Given the description of an element on the screen output the (x, y) to click on. 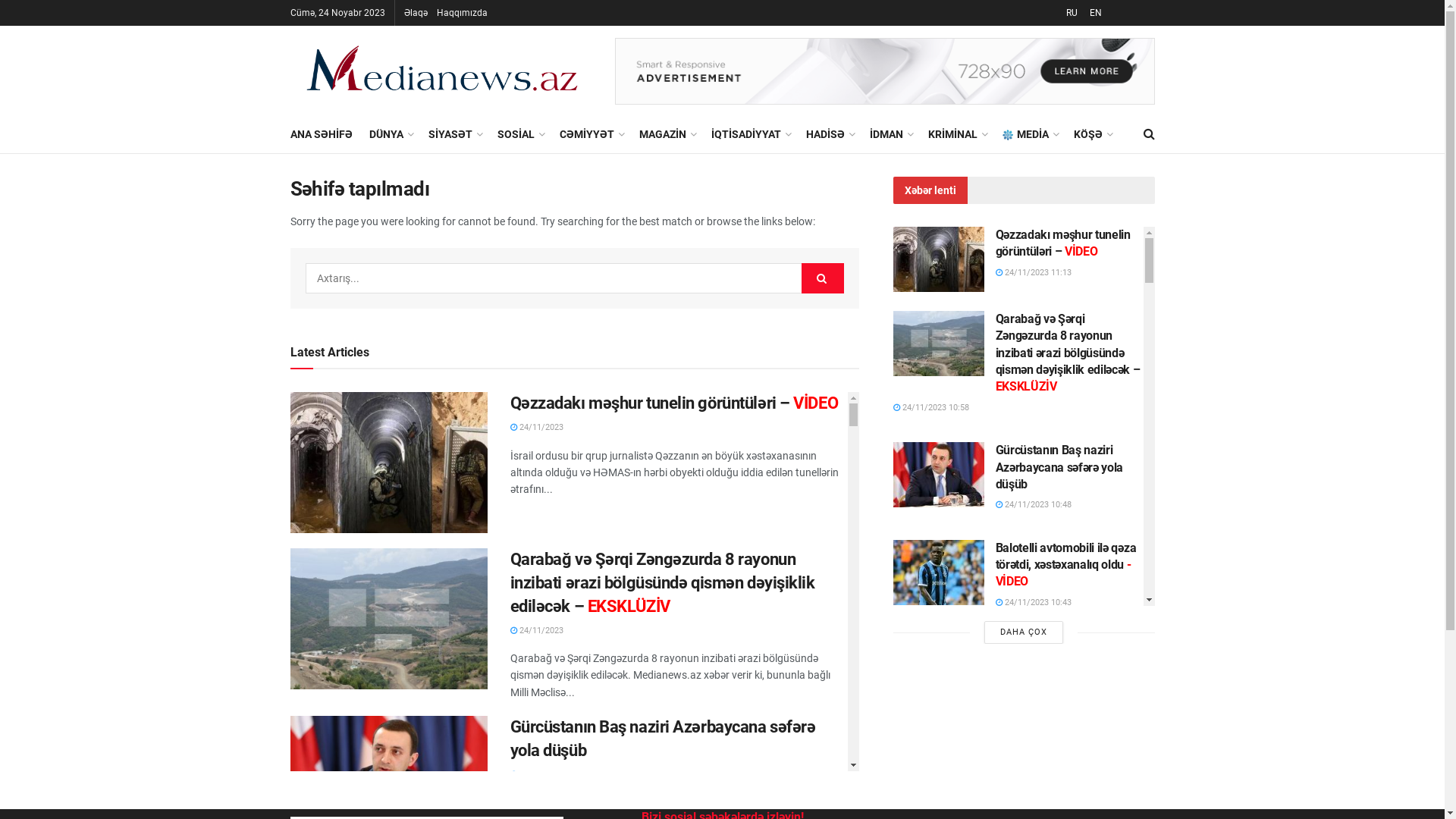
24/11/2023 10:43 Element type: text (1032, 602)
24/11/2023 Element type: text (535, 630)
MAGAZIN Element type: text (665, 133)
RU Element type: text (1070, 12)
24/11/2023 Element type: text (535, 774)
24/11/2023 Element type: text (535, 427)
KRIMINAL Element type: text (956, 133)
24/11/2023 10:48 Element type: text (1032, 504)
SOSIAL Element type: text (519, 133)
24/11/2023 10:58 Element type: text (931, 407)
24/11/2023 11:13 Element type: text (1032, 272)
24/11/2023 10:34 Element type: text (931, 716)
EN Element type: text (1093, 12)
MEDIA Element type: text (1029, 133)
